Given the description of an element on the screen output the (x, y) to click on. 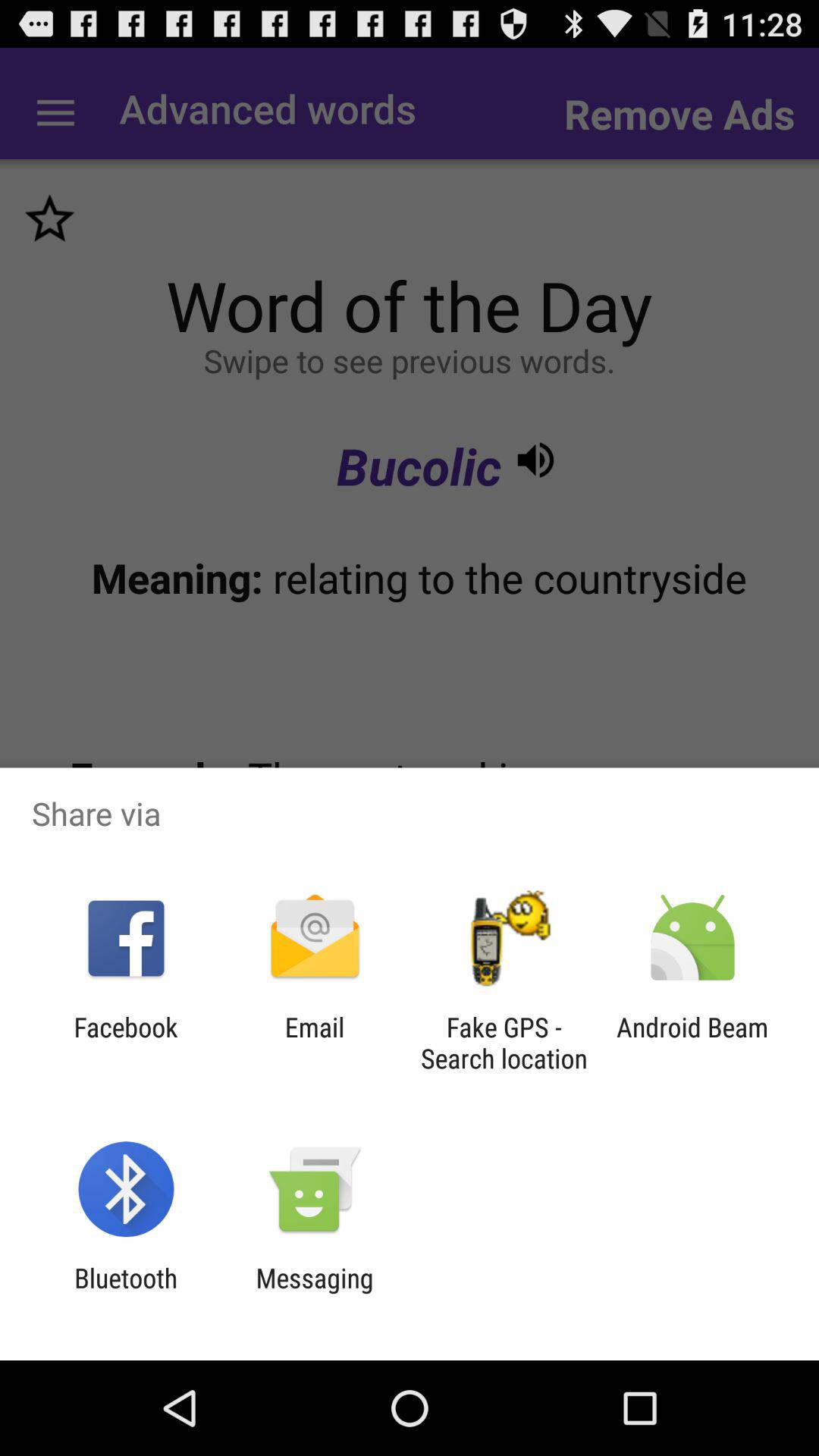
open item to the right of the bluetooth item (314, 1293)
